Given the description of an element on the screen output the (x, y) to click on. 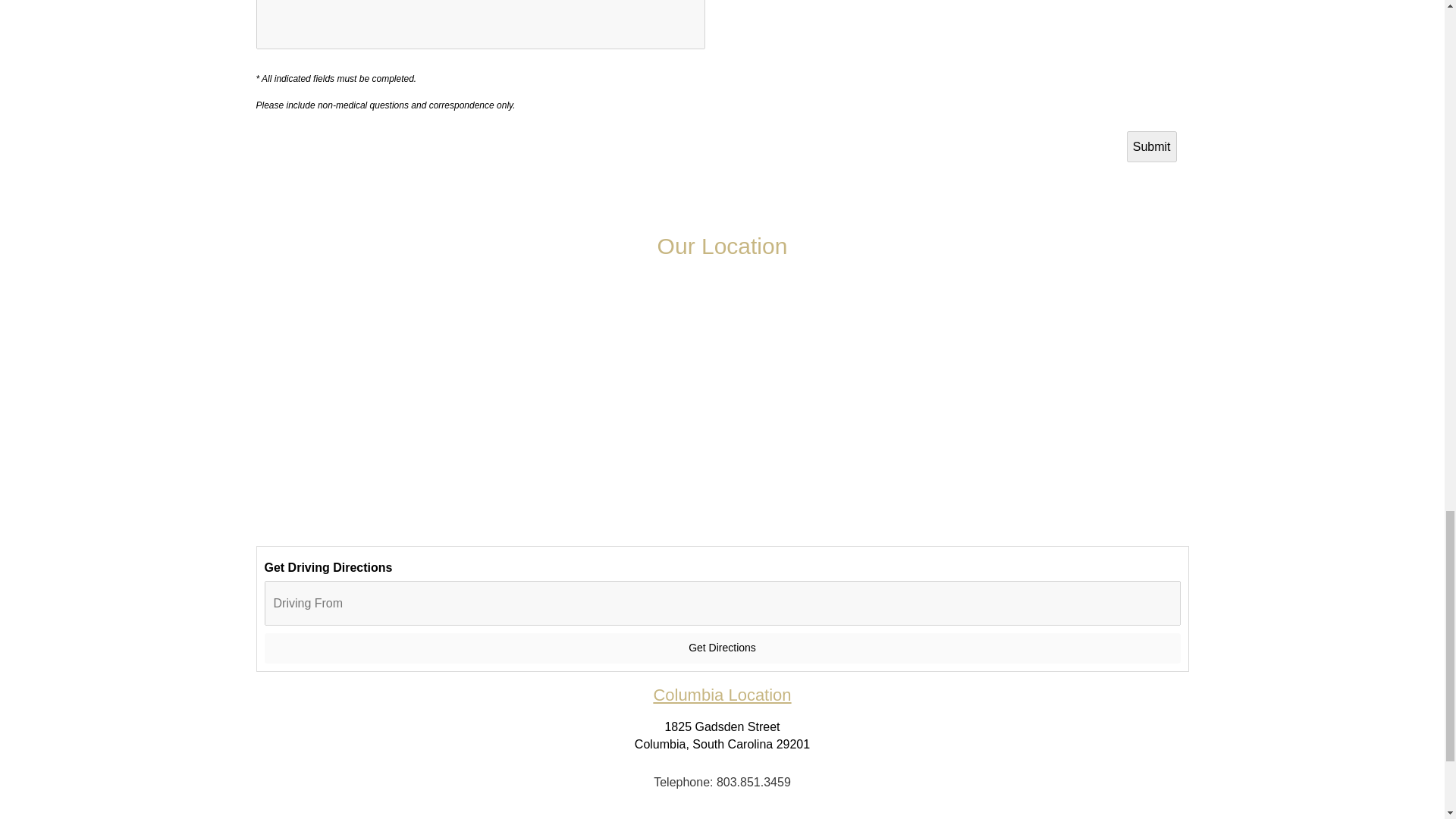
Get Directions (721, 648)
Submit (1151, 146)
